Given the description of an element on the screen output the (x, y) to click on. 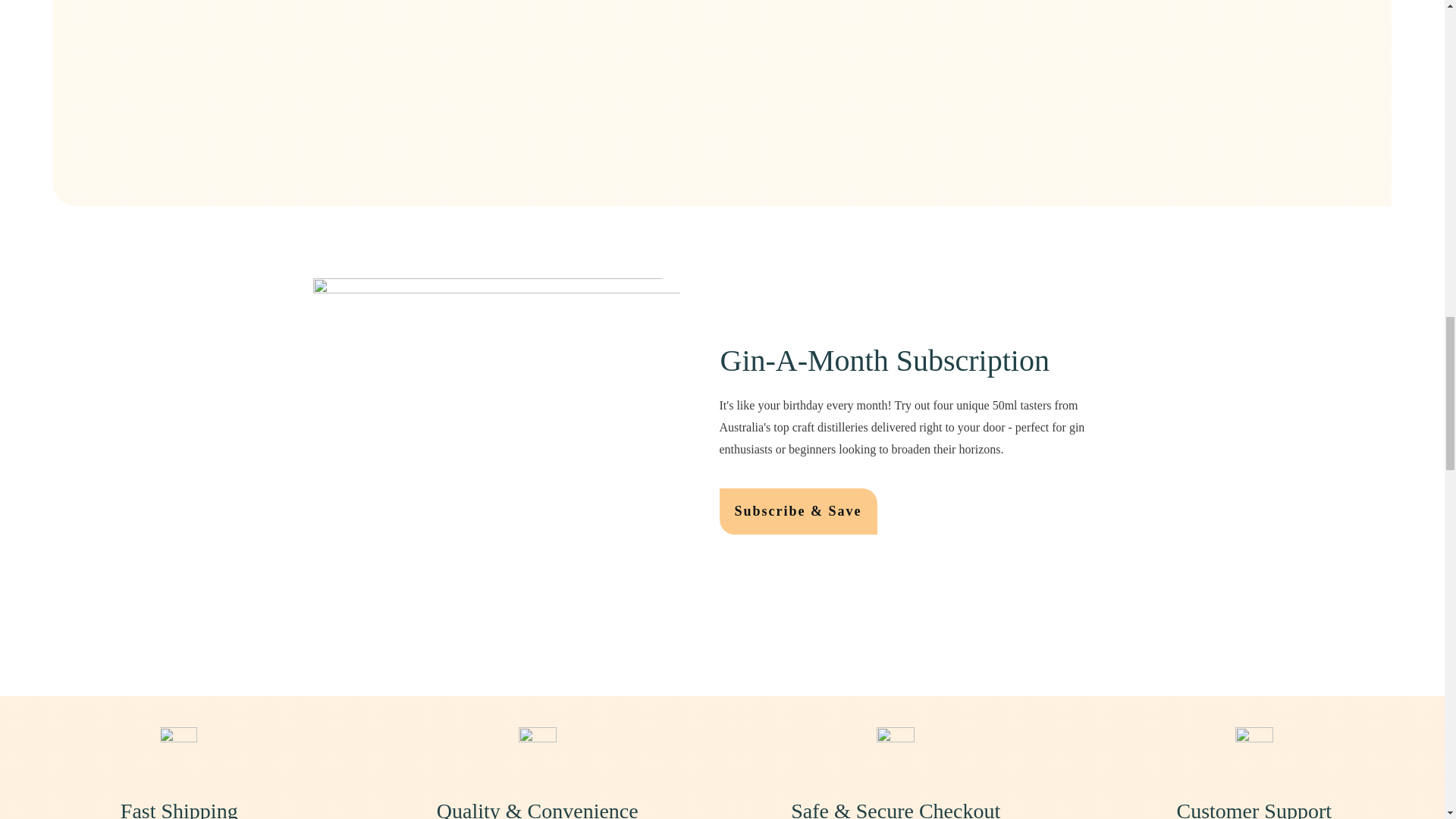
16 (1253, 745)
13 (177, 745)
14 (537, 745)
15 (895, 745)
